Given the description of an element on the screen output the (x, y) to click on. 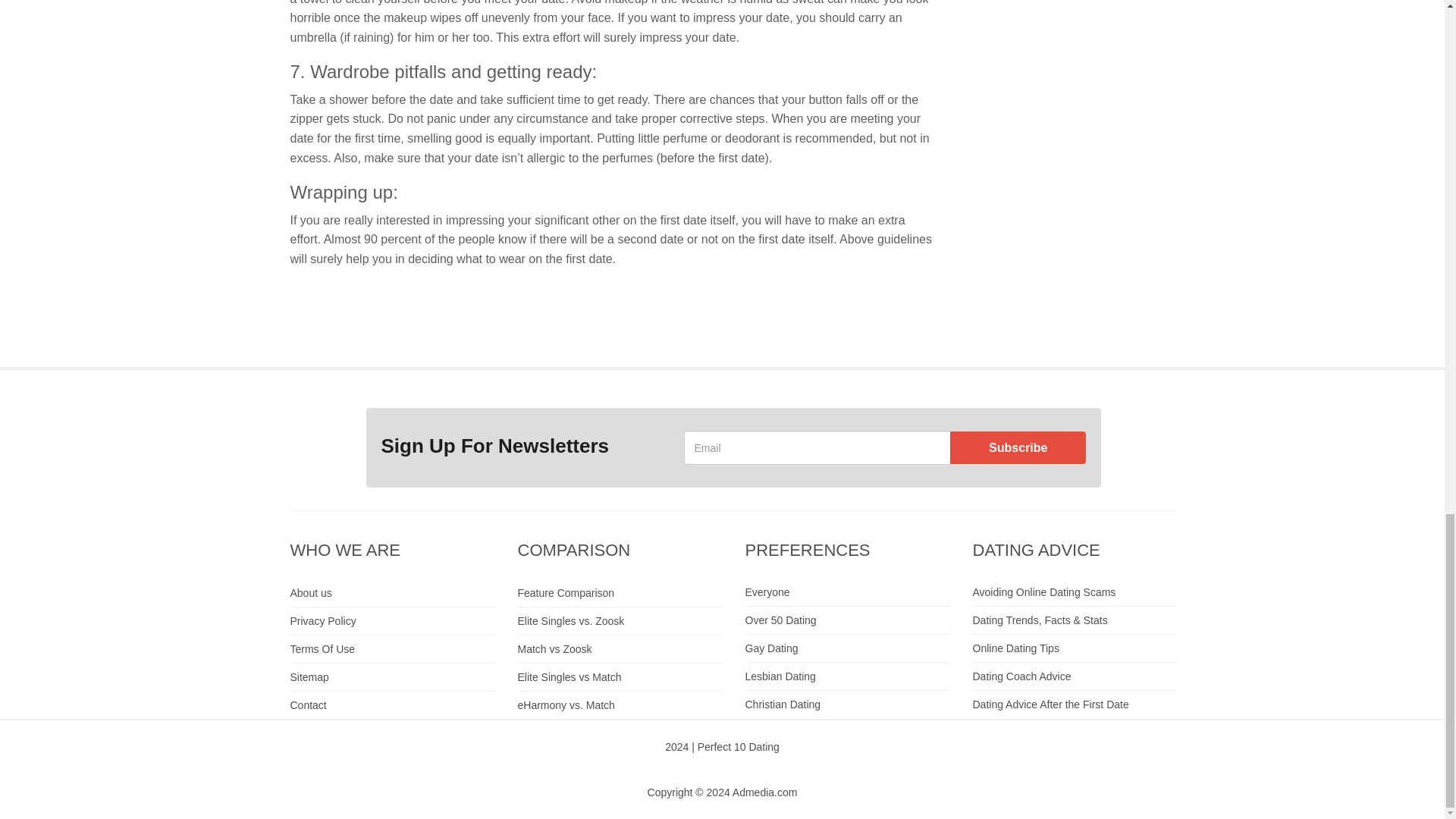
Subscribe (1018, 447)
Privacy Policy (392, 621)
Elite Singles vs Match (619, 677)
About us (392, 593)
Match vs Zoosk (619, 649)
Sitemap (392, 677)
eHarmony vs. Match (619, 705)
Over 50 Dating (846, 620)
Everyone (846, 592)
Terms Of Use (392, 649)
